Given the description of an element on the screen output the (x, y) to click on. 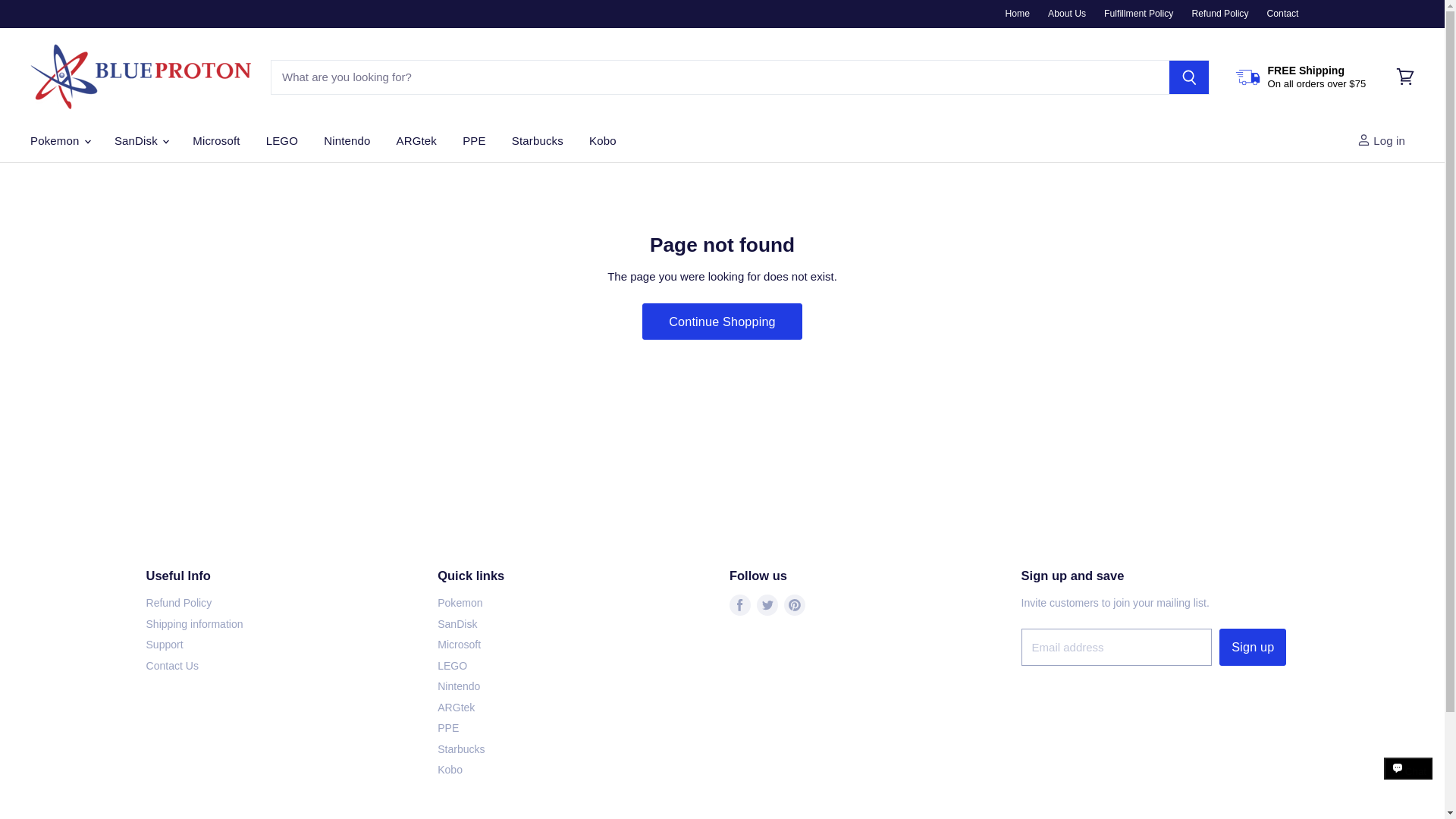
SanDisk (140, 140)
Shopify online store chat (1408, 781)
About Us (1067, 13)
Nintendo (347, 140)
Fulfillment Policy (1138, 13)
LEGO (281, 140)
Microsoft (215, 140)
Refund Policy (1219, 13)
Facebook (740, 605)
Account icon Log in (1384, 141)
Pinterest (794, 605)
PPE (473, 140)
Pokemon (59, 140)
Account icon (1363, 139)
Home (1017, 13)
